Given the description of an element on the screen output the (x, y) to click on. 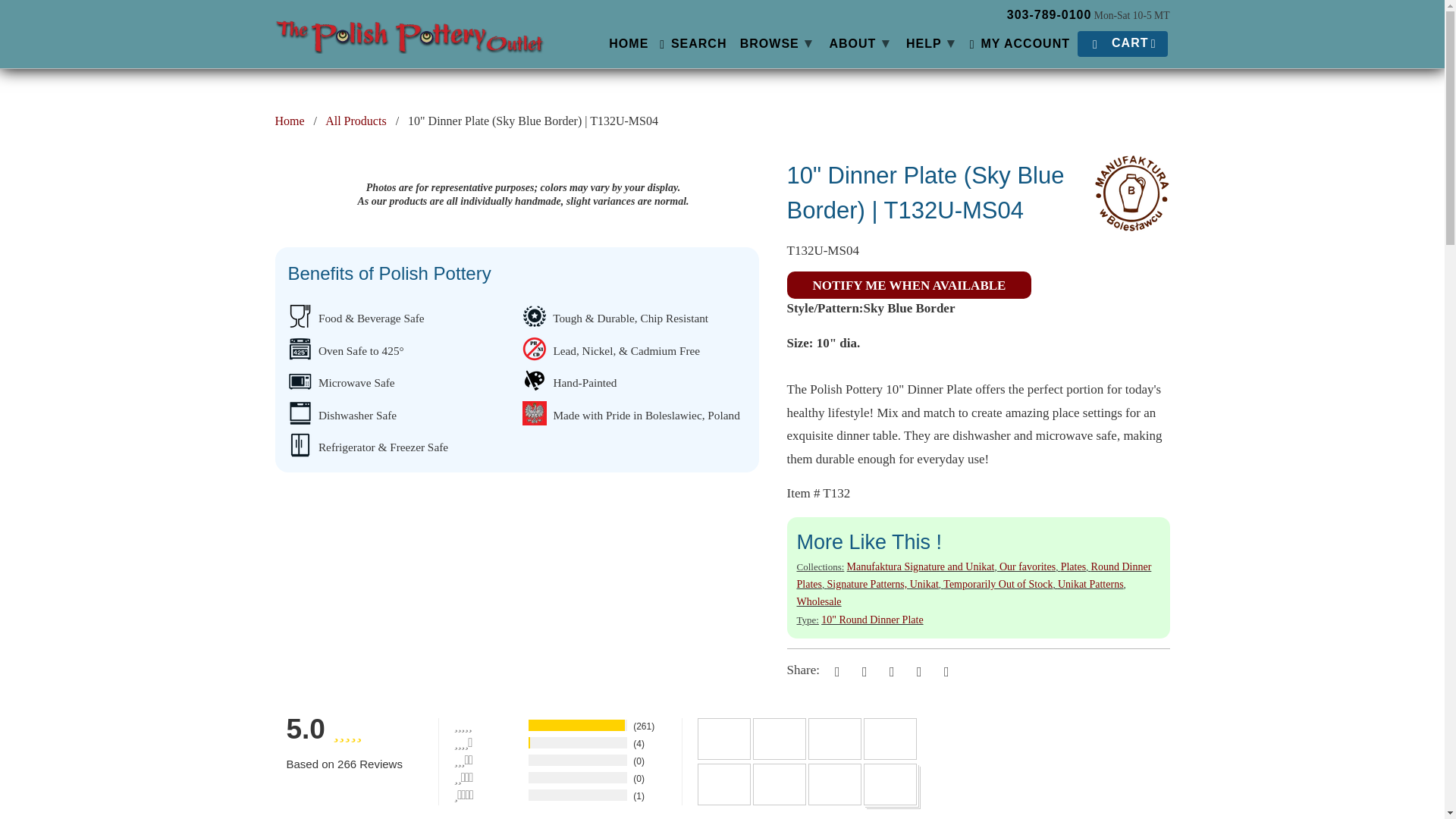
Share this on Twitter (834, 670)
Search (691, 46)
Round Dinner Plates (973, 575)
Our favorites (1026, 566)
The Polish Pottery Outlet (409, 30)
See All Products from Manufaktura (1131, 223)
Temporarily Out of Stock (997, 583)
Manufaktura Signature and Unikat (920, 566)
Signature Patterns, Unikat (882, 583)
All Products (354, 120)
